Given the description of an element on the screen output the (x, y) to click on. 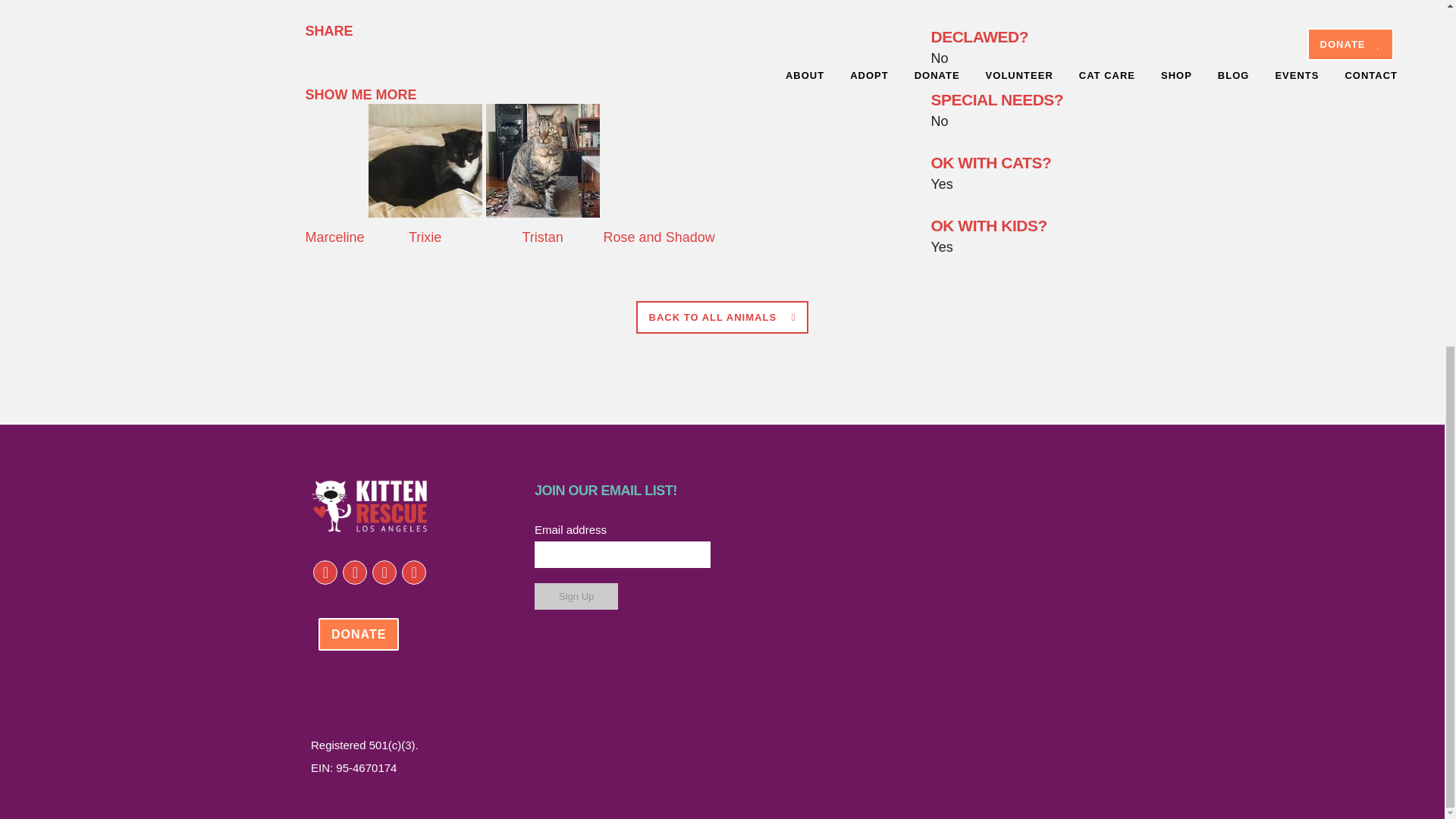
Trixie (424, 212)
Sign Up (575, 596)
Tristan (542, 212)
